Given the description of an element on the screen output the (x, y) to click on. 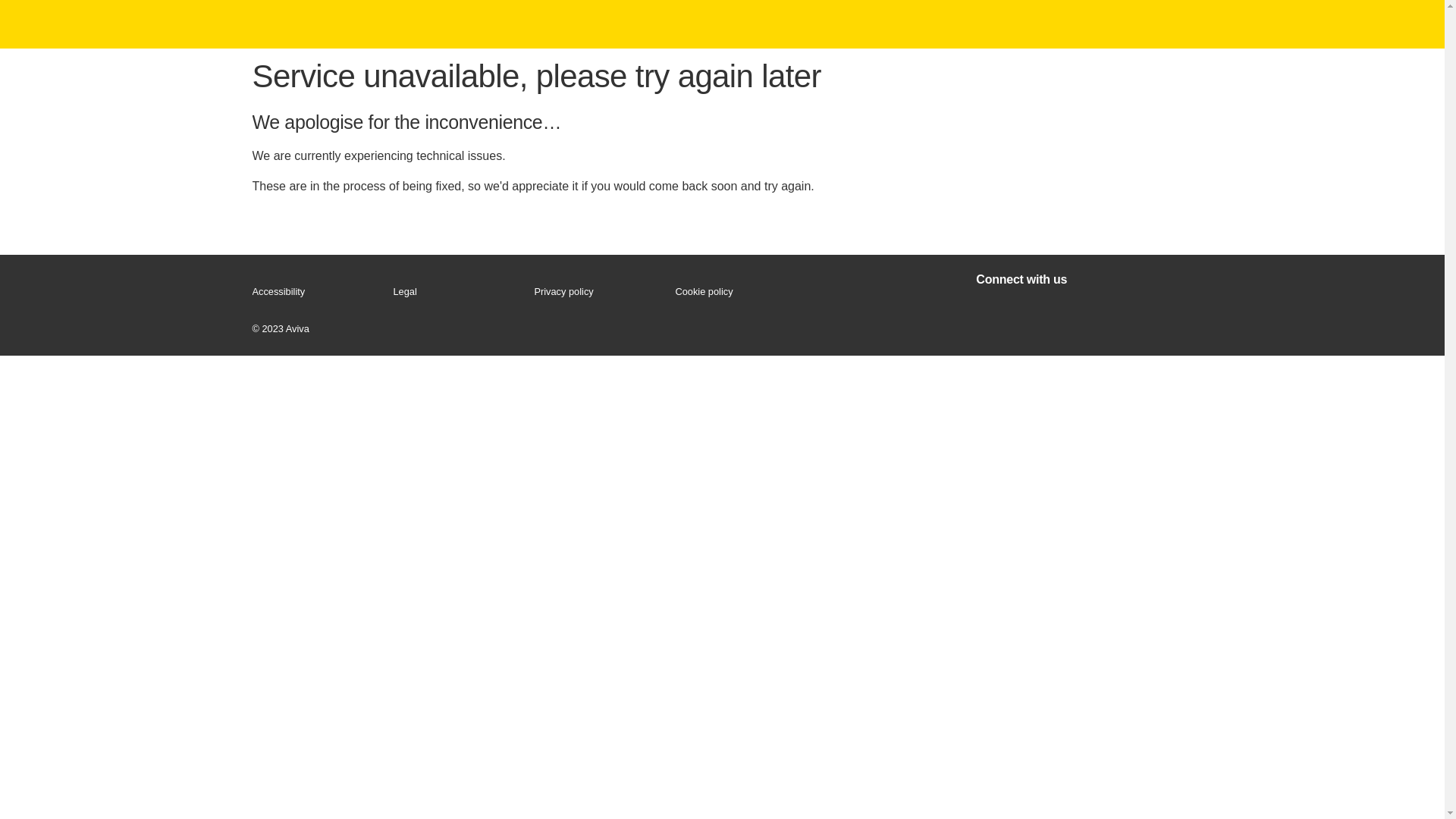
Legal Element type: text (455, 291)
Facebook Element type: text (989, 312)
YouTube Element type: text (1111, 312)
Privacy policy Element type: text (596, 291)
Aviva Element type: text (300, 23)
Google+ Element type: text (1071, 312)
Twitter Element type: text (1030, 312)
Cookie policy Element type: text (737, 291)
Accessibility Element type: text (314, 291)
